Given the description of an element on the screen output the (x, y) to click on. 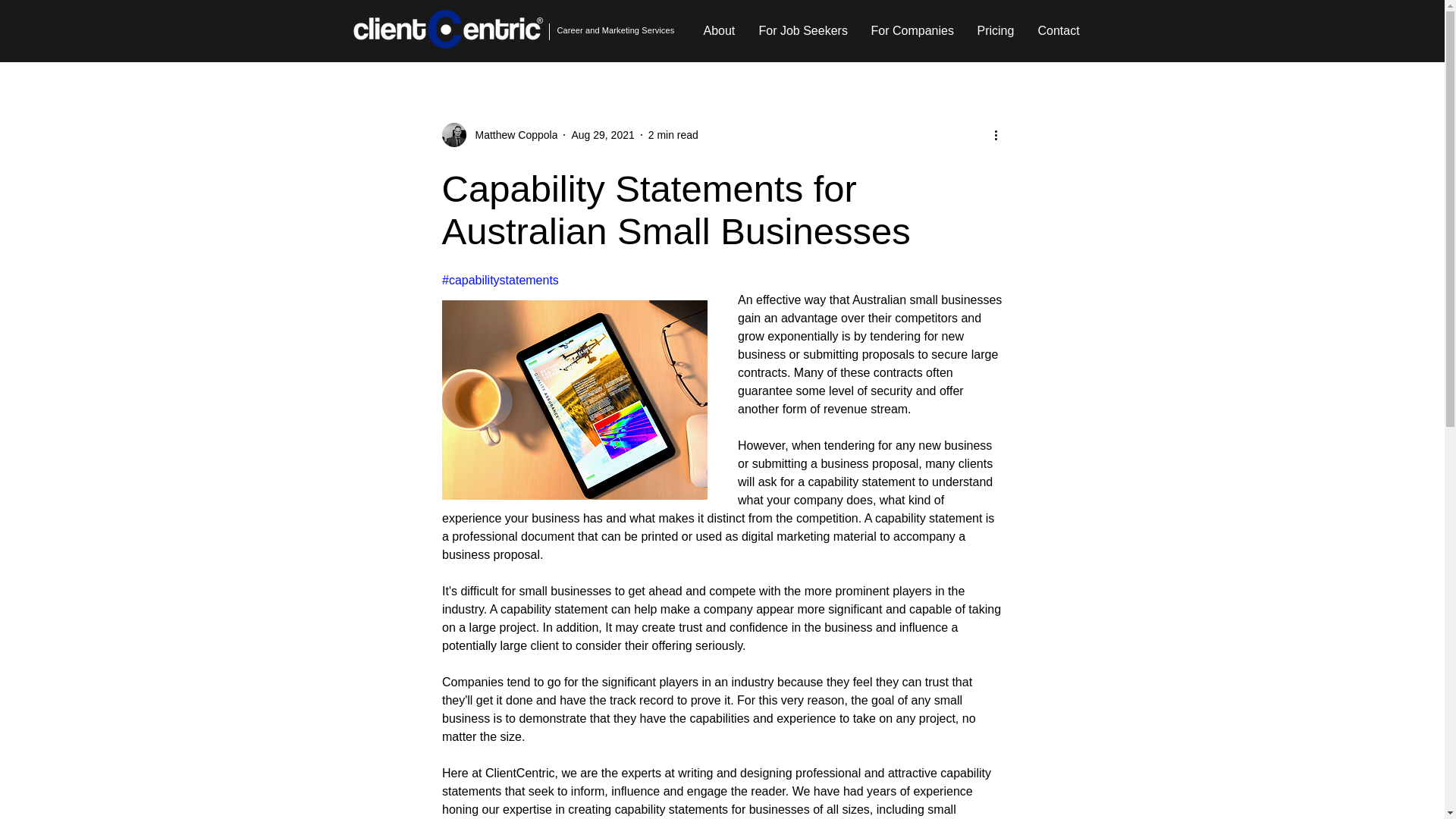
Matthew Coppola (511, 135)
2 min read (672, 134)
Aug 29, 2021 (601, 134)
Contact (1057, 30)
